Given the description of an element on the screen output the (x, y) to click on. 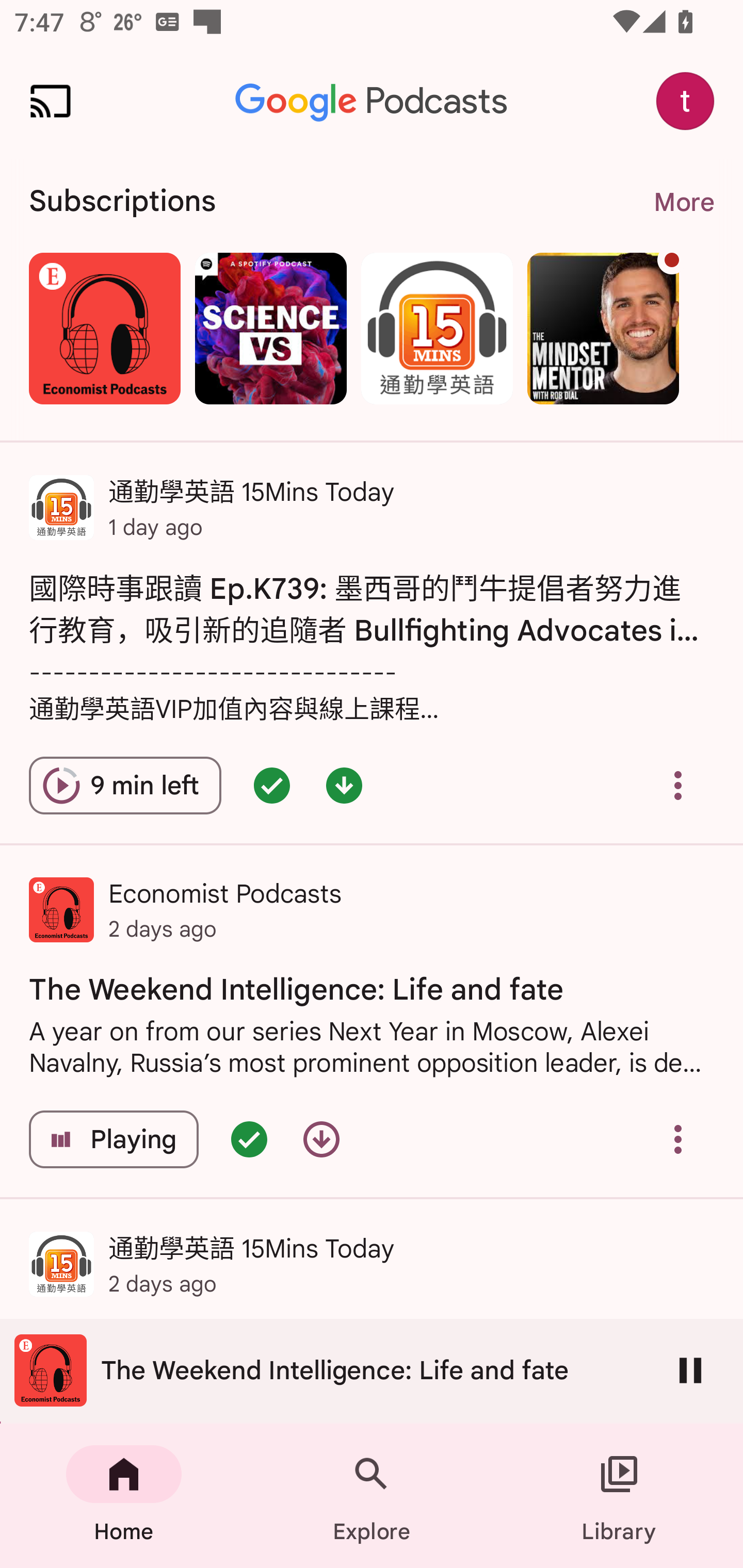
Cast. Disconnected (50, 101)
More More. Navigate to subscriptions page. (683, 202)
Economist Podcasts (104, 328)
Science Vs (270, 328)
通勤學英語 15Mins Today (436, 328)
The Mindset Mentor (603, 328)
Episode queued - double tap for options (271, 785)
Episode downloaded - double tap for options (344, 785)
Overflow menu (677, 785)
Episode queued - double tap for options (249, 1139)
Download episode (321, 1139)
Overflow menu (677, 1139)
Pause (690, 1370)
Explore (371, 1495)
Library (619, 1495)
